Given the description of an element on the screen output the (x, y) to click on. 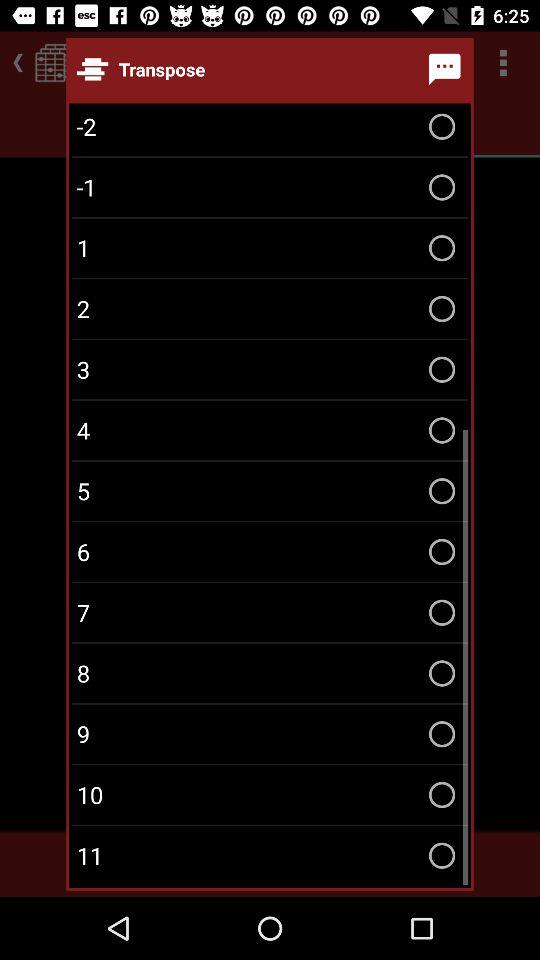
open the item above 5 icon (269, 430)
